Given the description of an element on the screen output the (x, y) to click on. 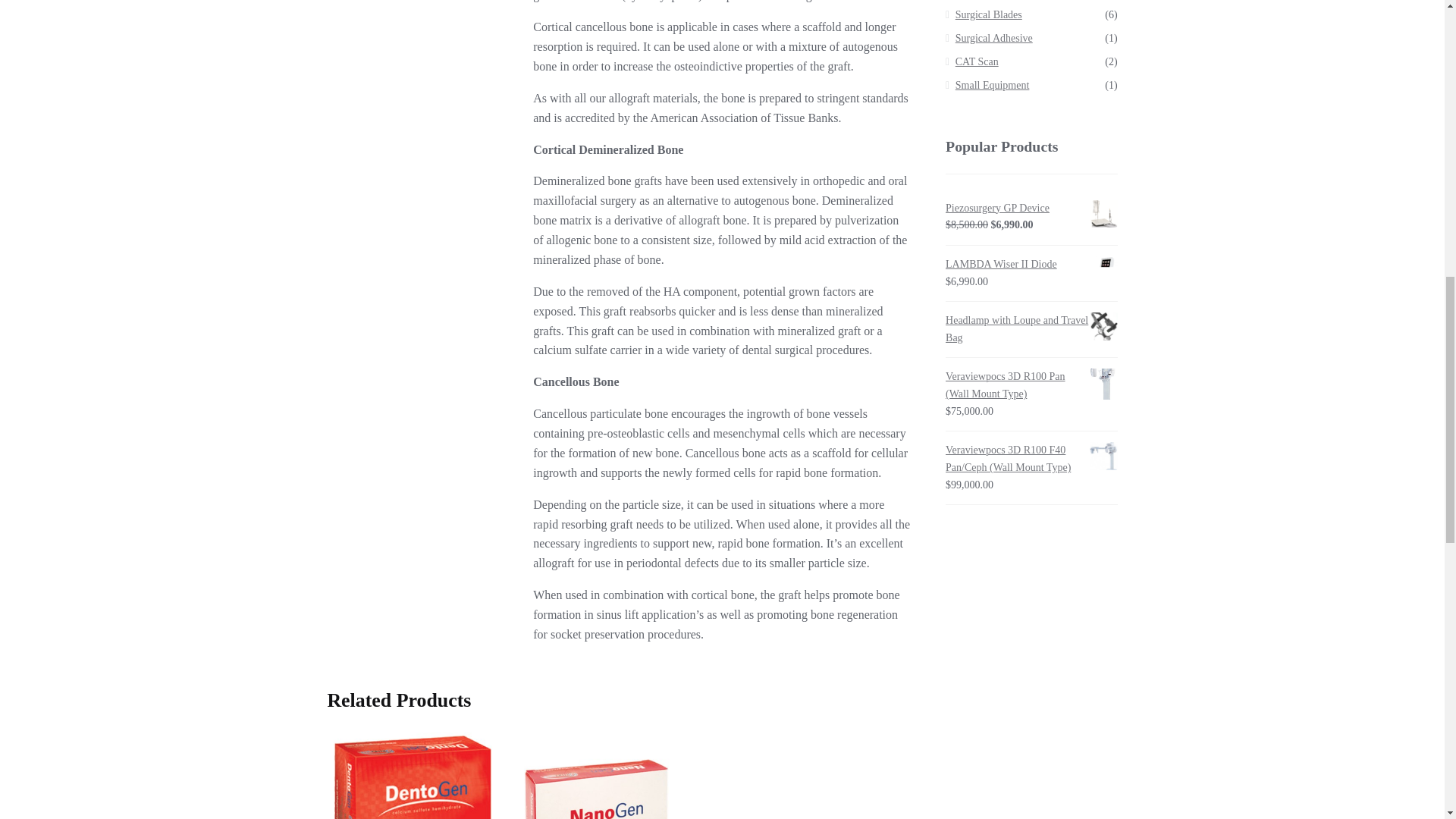
nanogen (596, 775)
Headlamp with Loupe and Travel Bag (1031, 329)
LAMBDA Wiser II Diode (1031, 264)
Piezosurgery GP Device (1031, 208)
